Given the description of an element on the screen output the (x, y) to click on. 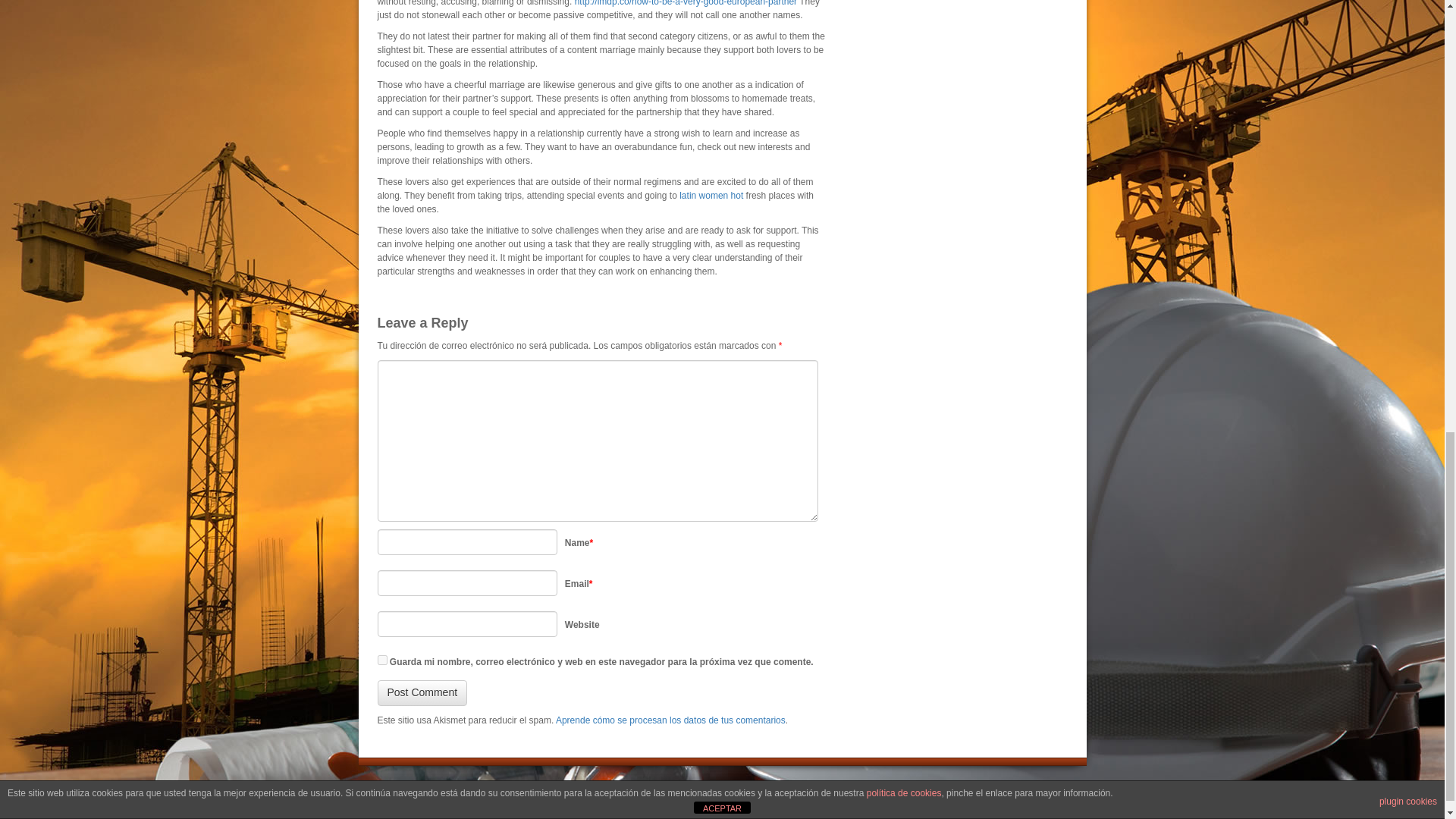
Diswebline (800, 799)
latin women hot (710, 195)
yes (382, 660)
Post Comment (422, 692)
Post Comment (422, 692)
